Given the description of an element on the screen output the (x, y) to click on. 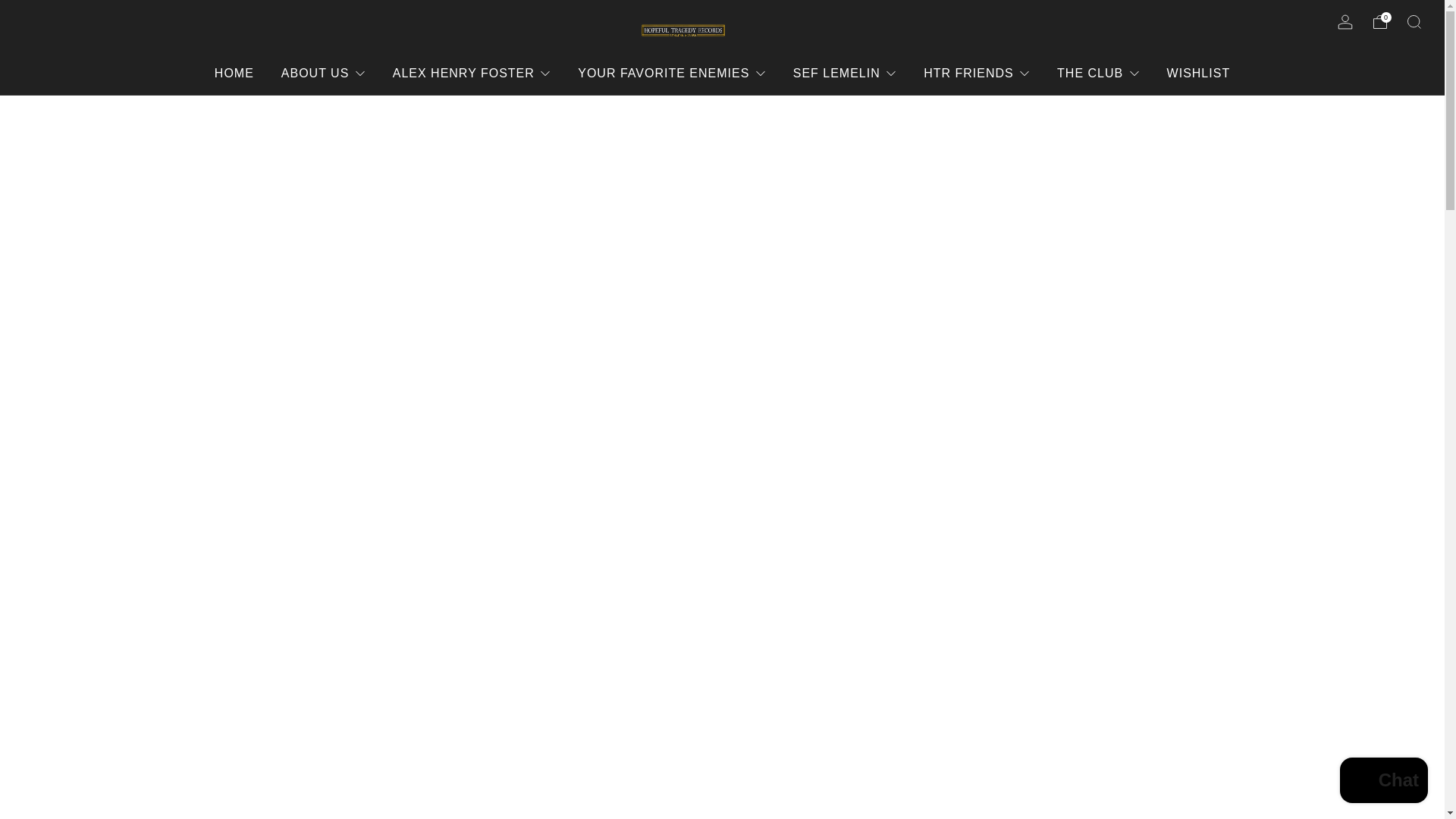
ABOUT US (323, 72)
HOME (233, 72)
Shopify online store chat (1383, 781)
ALEX HENRY FOSTER (472, 72)
